Given the description of an element on the screen output the (x, y) to click on. 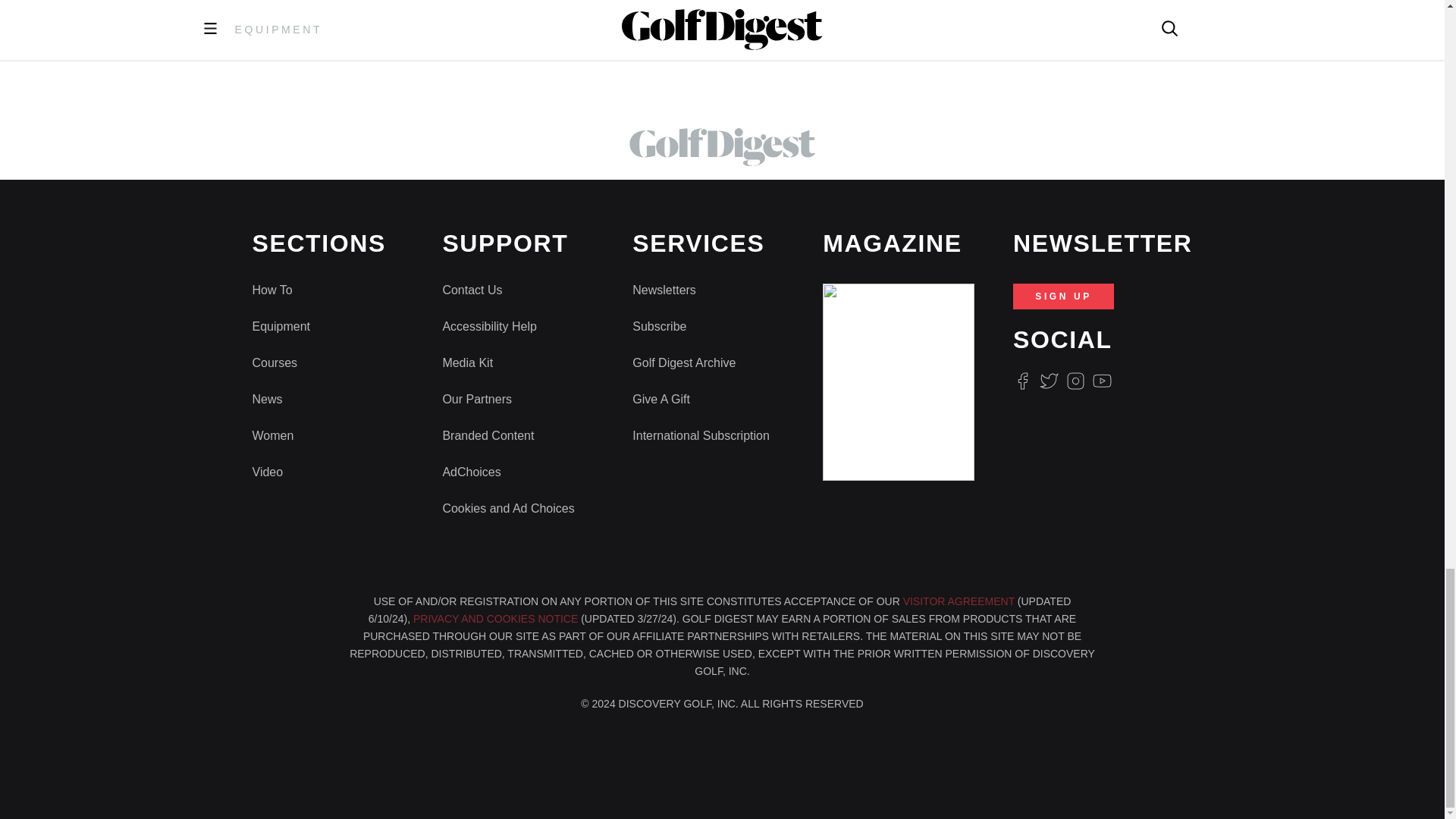
Twitter Logo (1048, 380)
Facebook Logo (1022, 380)
Instagram Logo (1074, 380)
Youtube Icon (1102, 380)
